Given the description of an element on the screen output the (x, y) to click on. 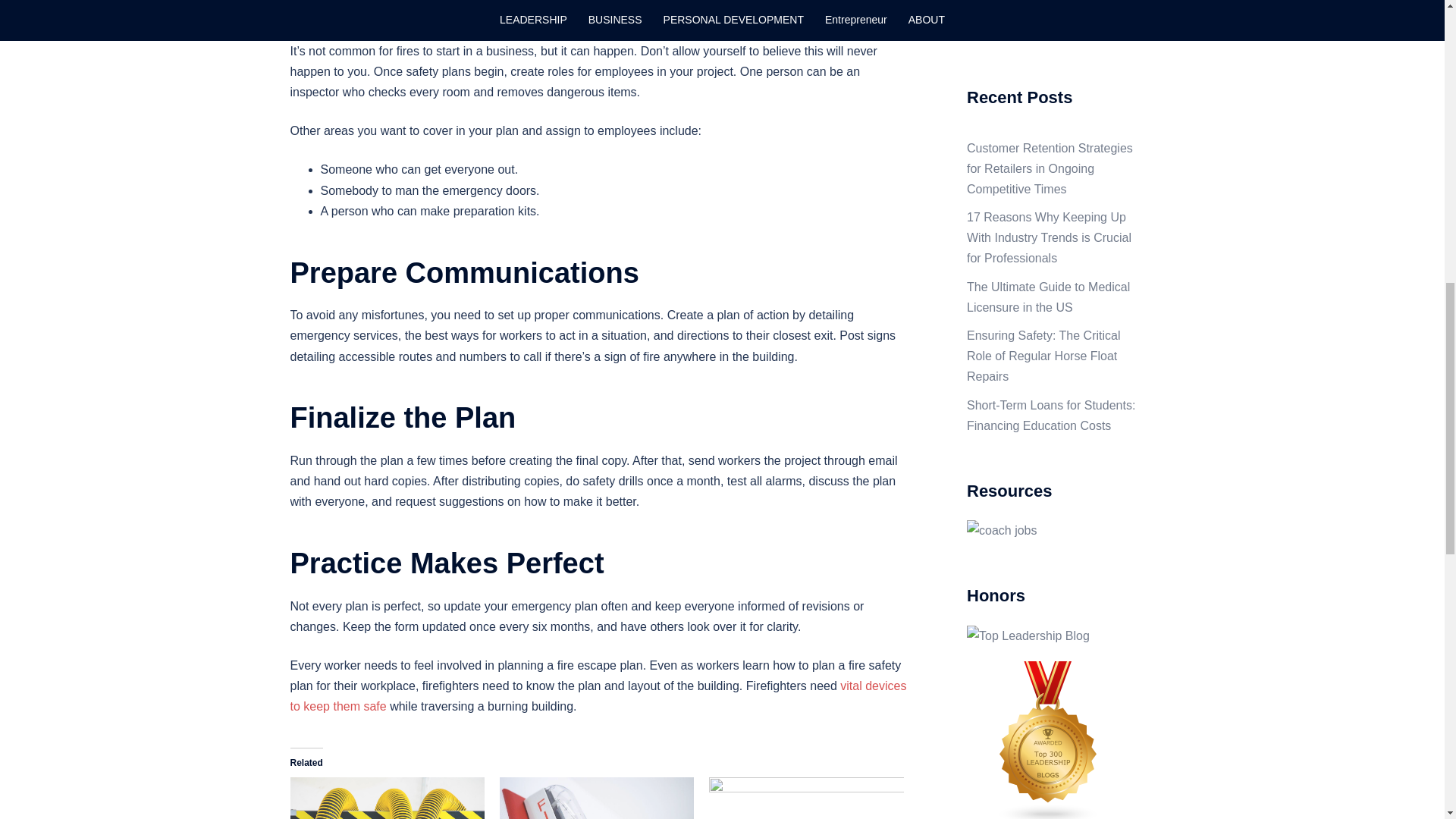
Why All Businesses Need To Hire a Fire Safety Expert (596, 798)
vital devices to keep them safe (597, 695)
leadership blogs (1048, 741)
